Given the description of an element on the screen output the (x, y) to click on. 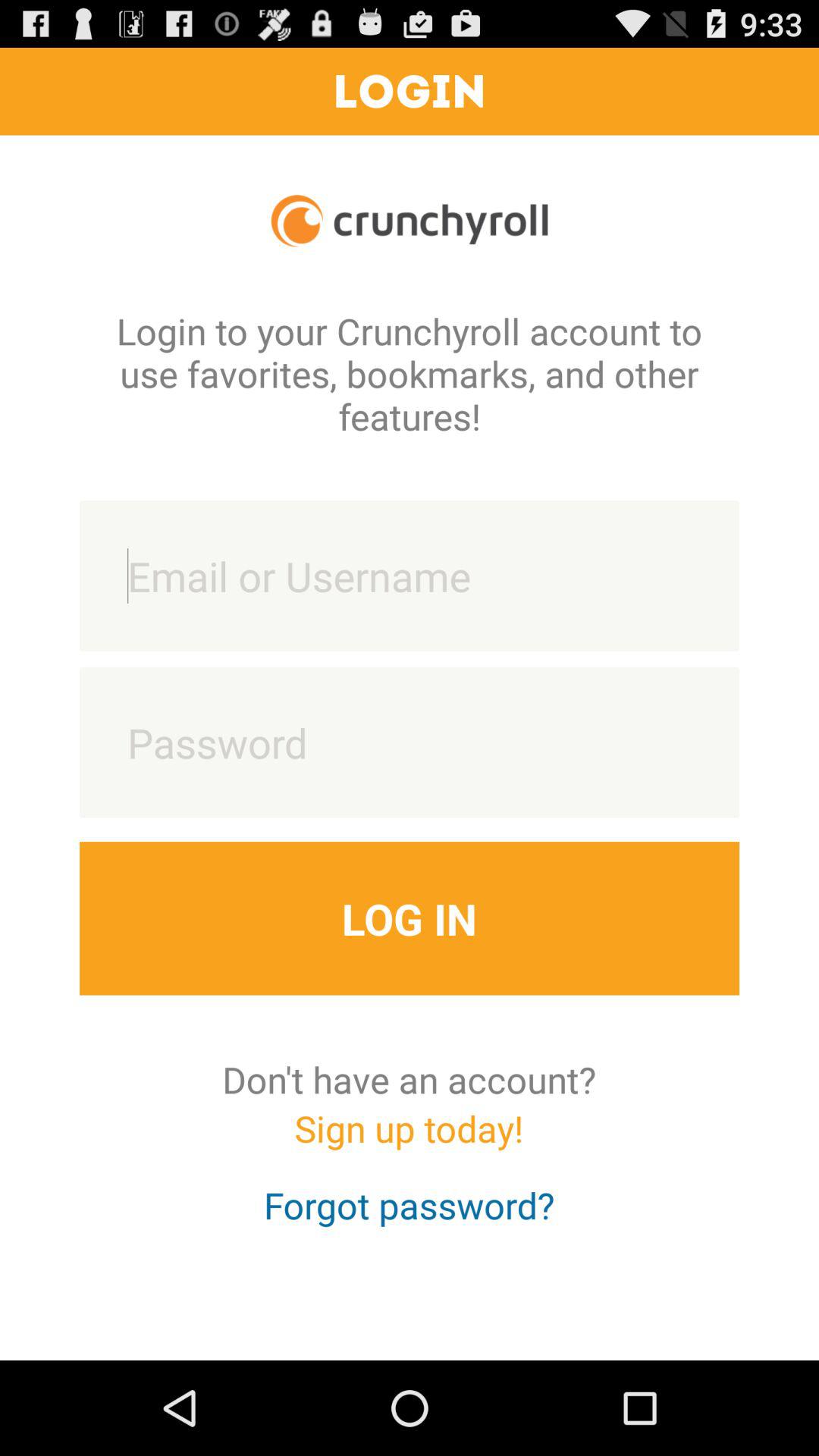
flip to sign up today! item (408, 1141)
